Given the description of an element on the screen output the (x, y) to click on. 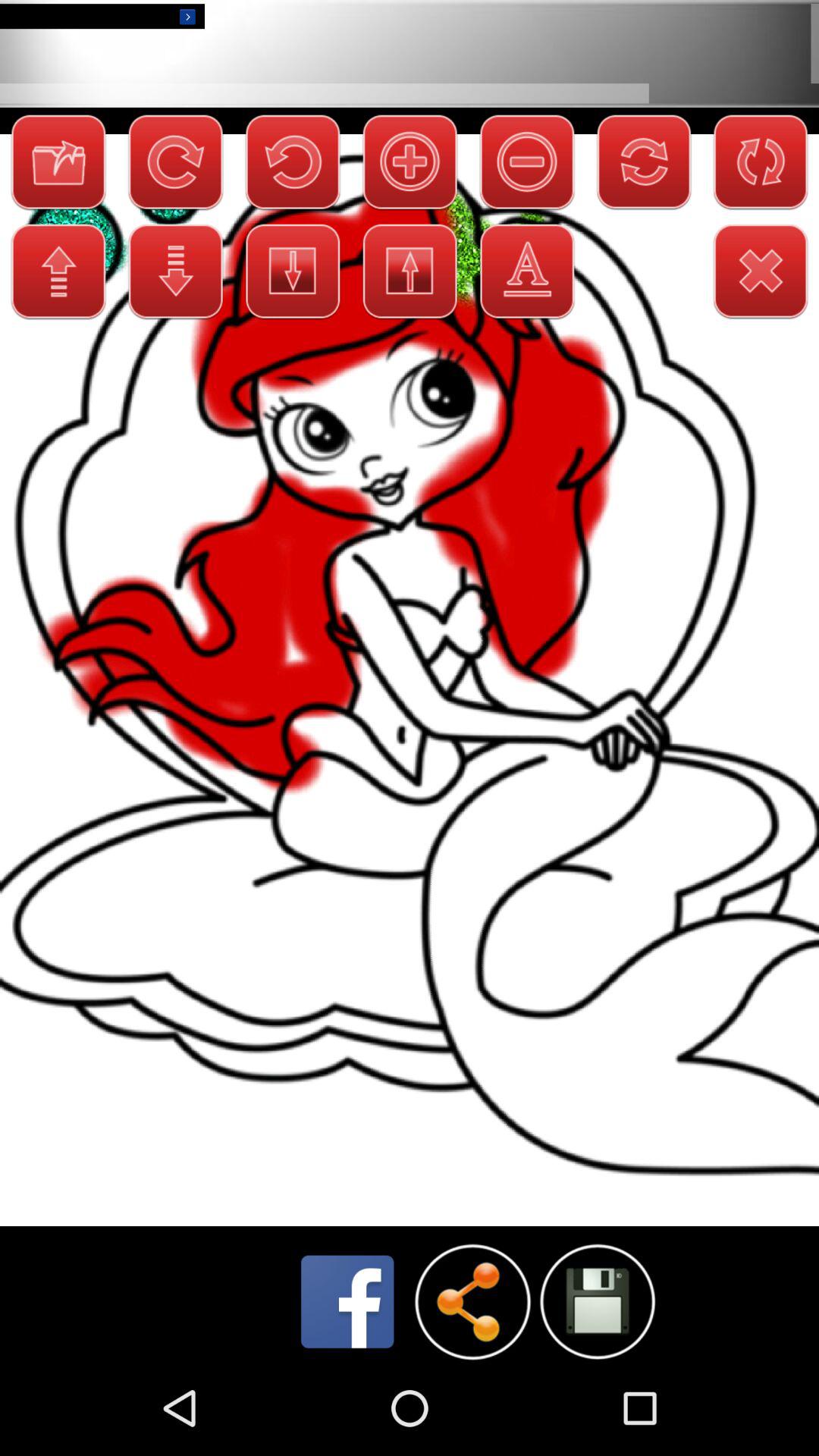
search (597, 1301)
